Given the description of an element on the screen output the (x, y) to click on. 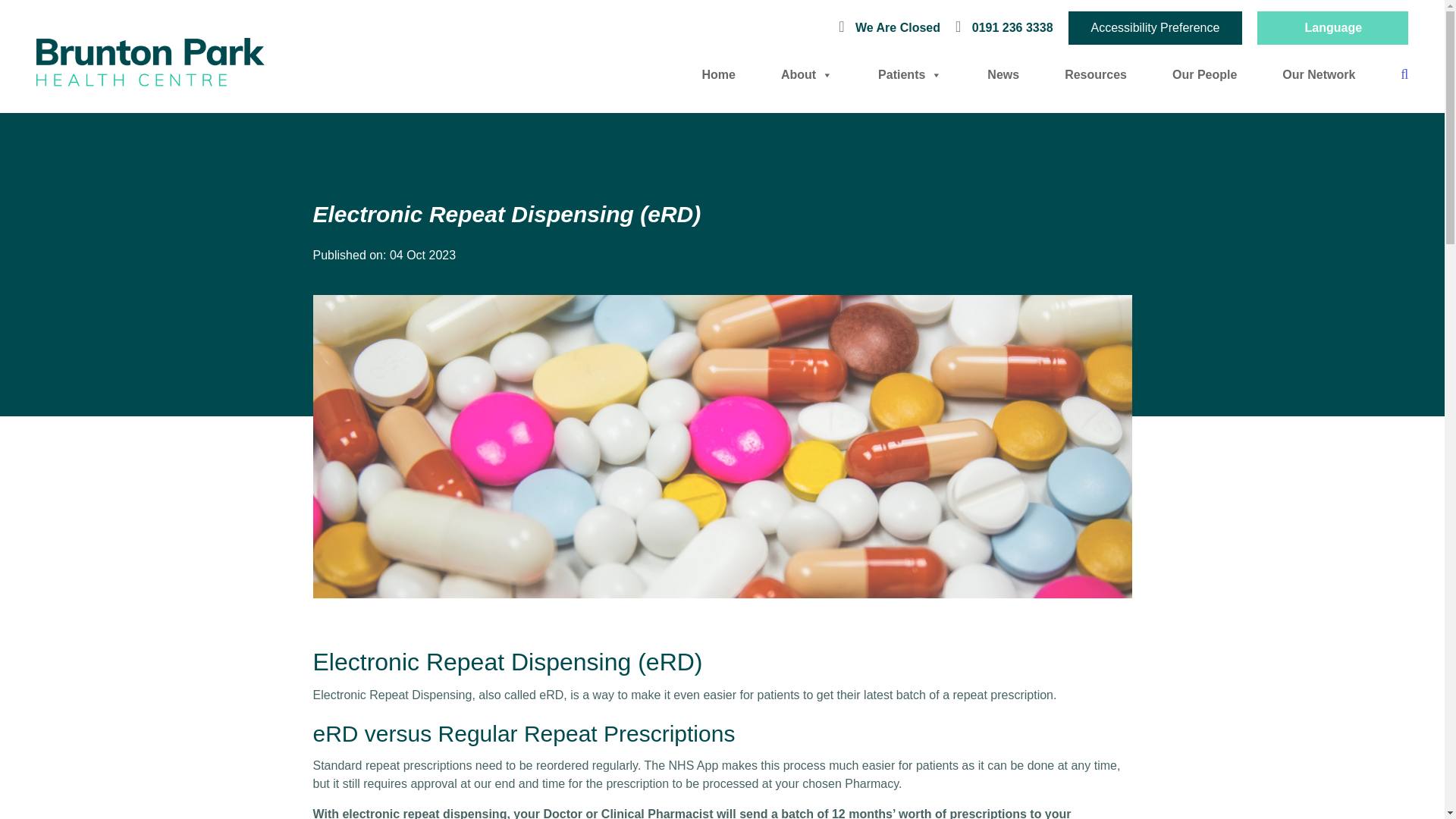
Accessibility Preference (1155, 28)
Resources (1095, 74)
Patients (909, 74)
Accessibility Preference (1155, 28)
Our Network (1318, 74)
We Are Closed (893, 27)
Home (718, 74)
Call 0191 236 3338 (1003, 27)
0191 236 3338 (1003, 27)
About (806, 74)
Select Language (1332, 27)
Our People (1204, 74)
News (1003, 74)
